Given the description of an element on the screen output the (x, y) to click on. 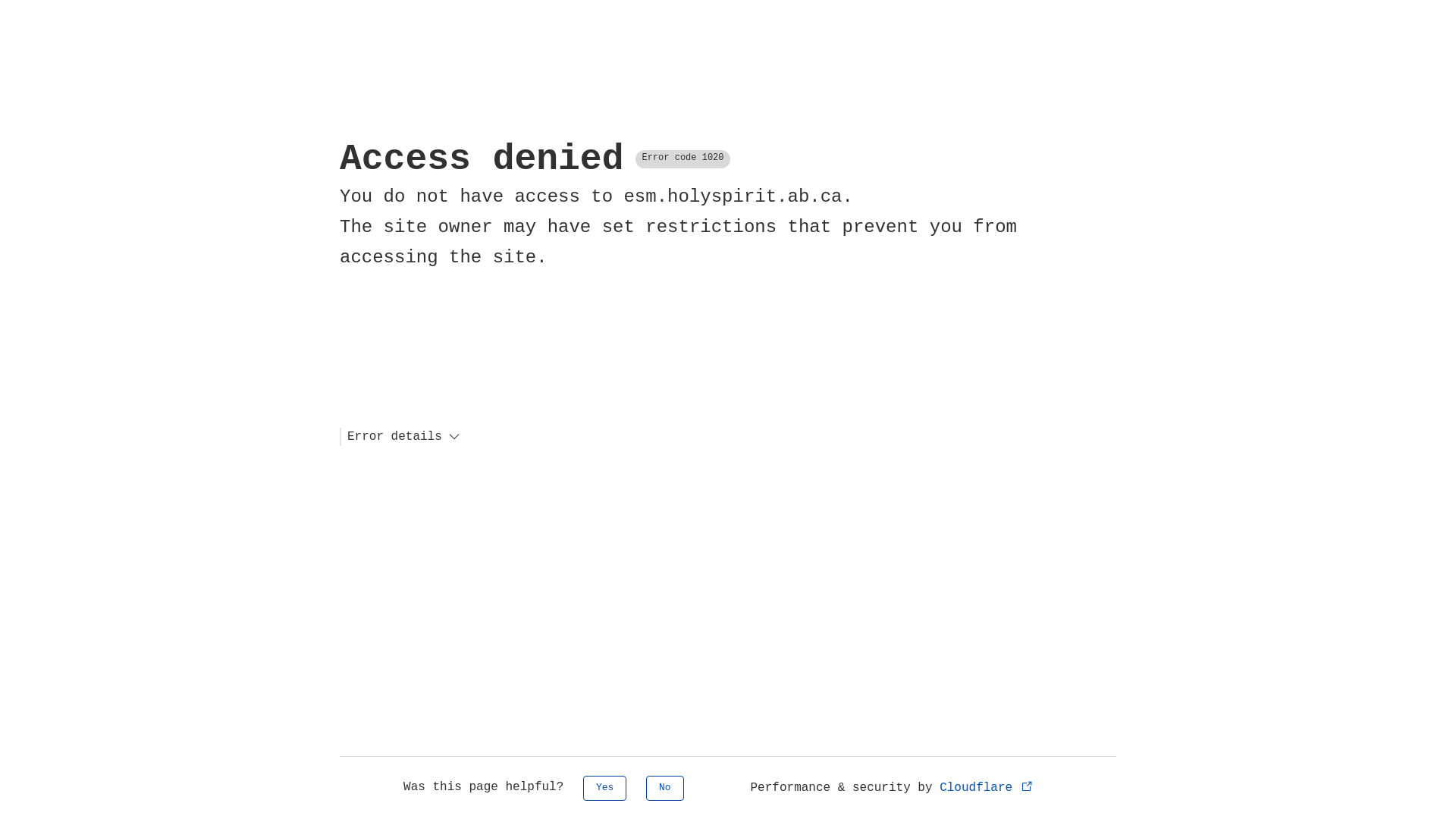
No Element type: text (665, 787)
Yes Element type: text (604, 787)
Opens in new tab Element type: hover (1027, 785)
Cloudflare Element type: text (986, 787)
